Given the description of an element on the screen output the (x, y) to click on. 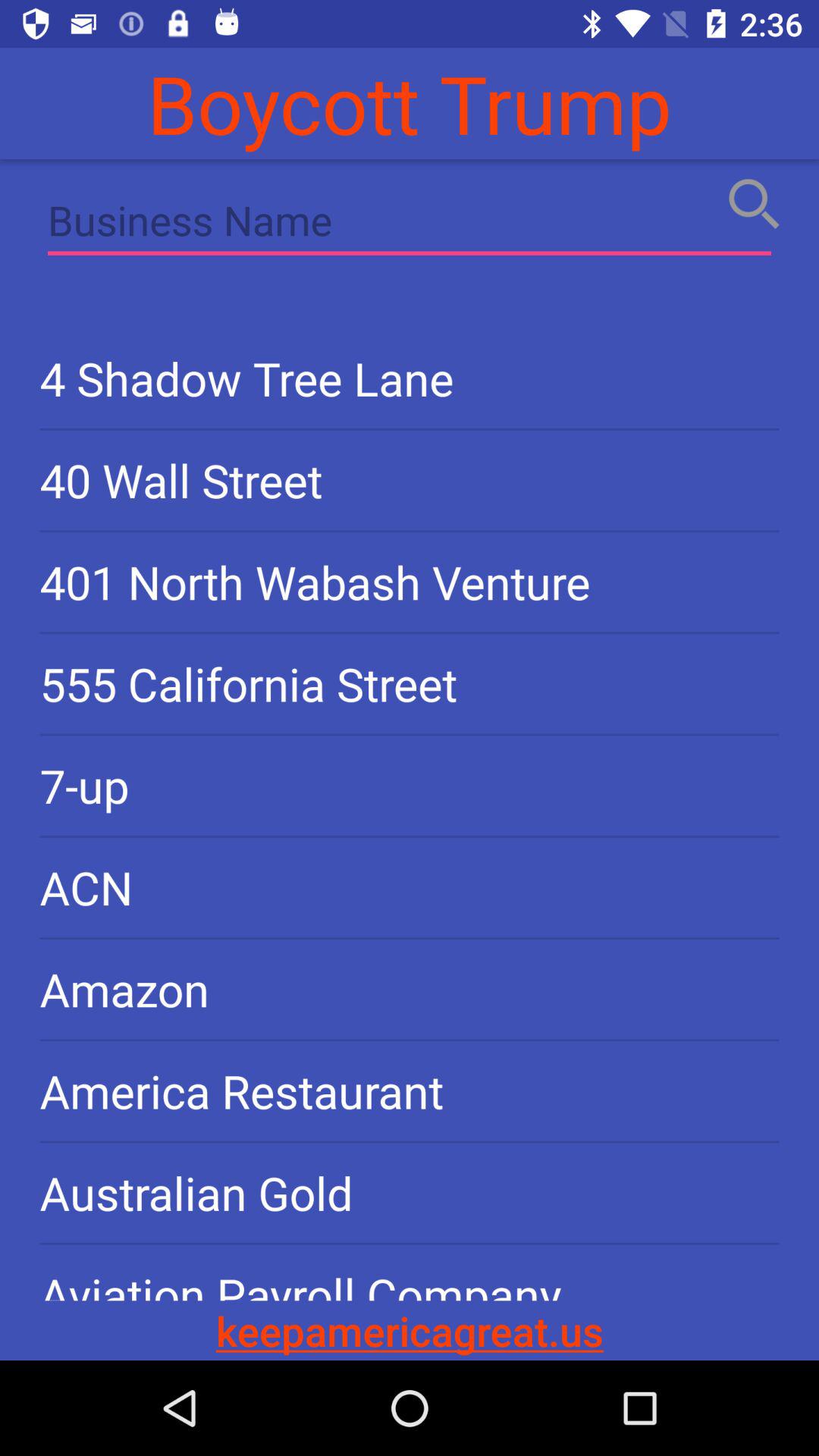
open the  keepamericagreat.us (409, 1330)
